Given the description of an element on the screen output the (x, y) to click on. 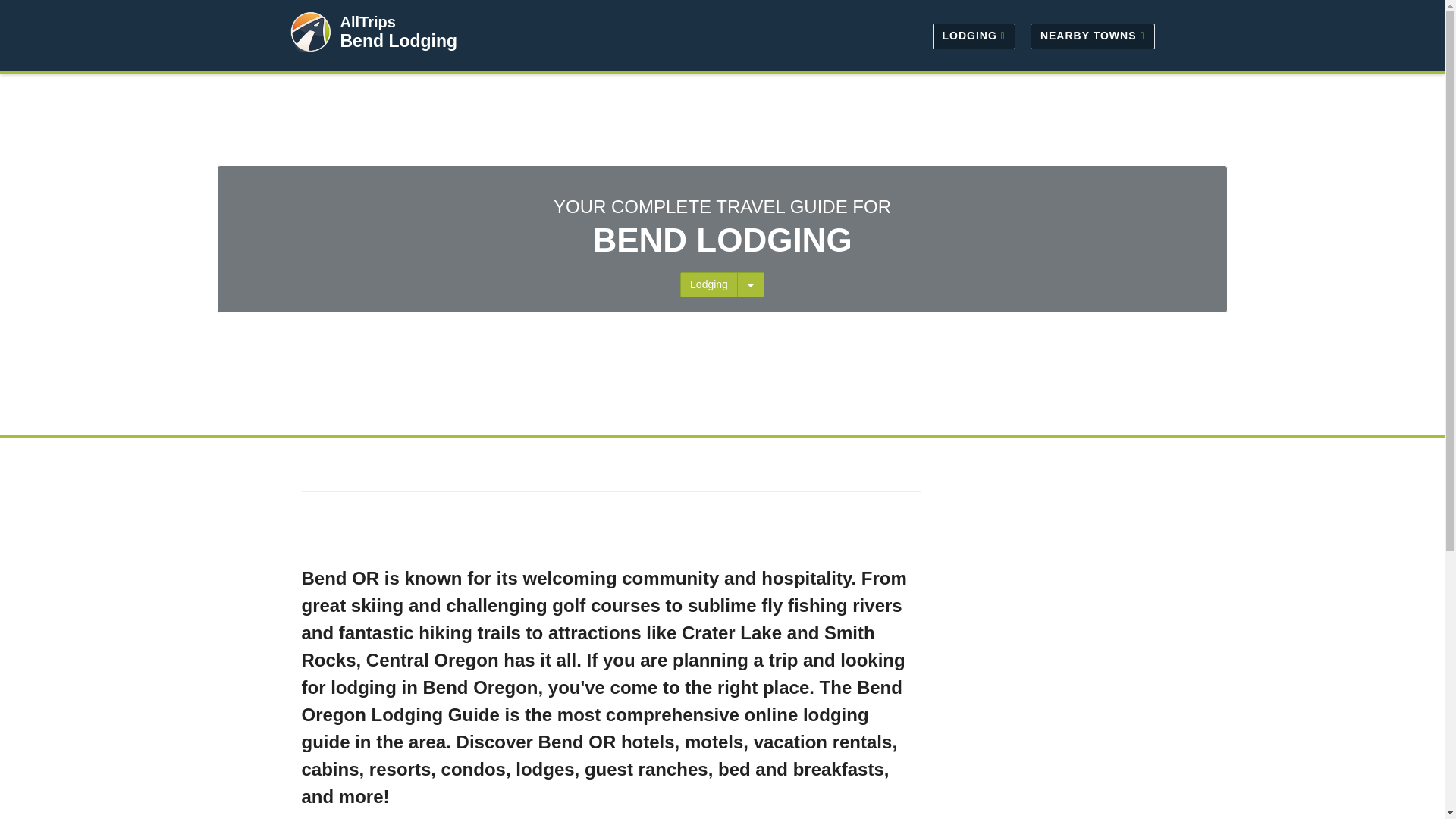
LODGING (973, 35)
AllTrips (366, 21)
Toggle Dropdown (750, 284)
Lodging (709, 284)
Lodging (708, 284)
Bend Lodging (398, 40)
NEARBY TOWNS (1088, 35)
